Given the description of an element on the screen output the (x, y) to click on. 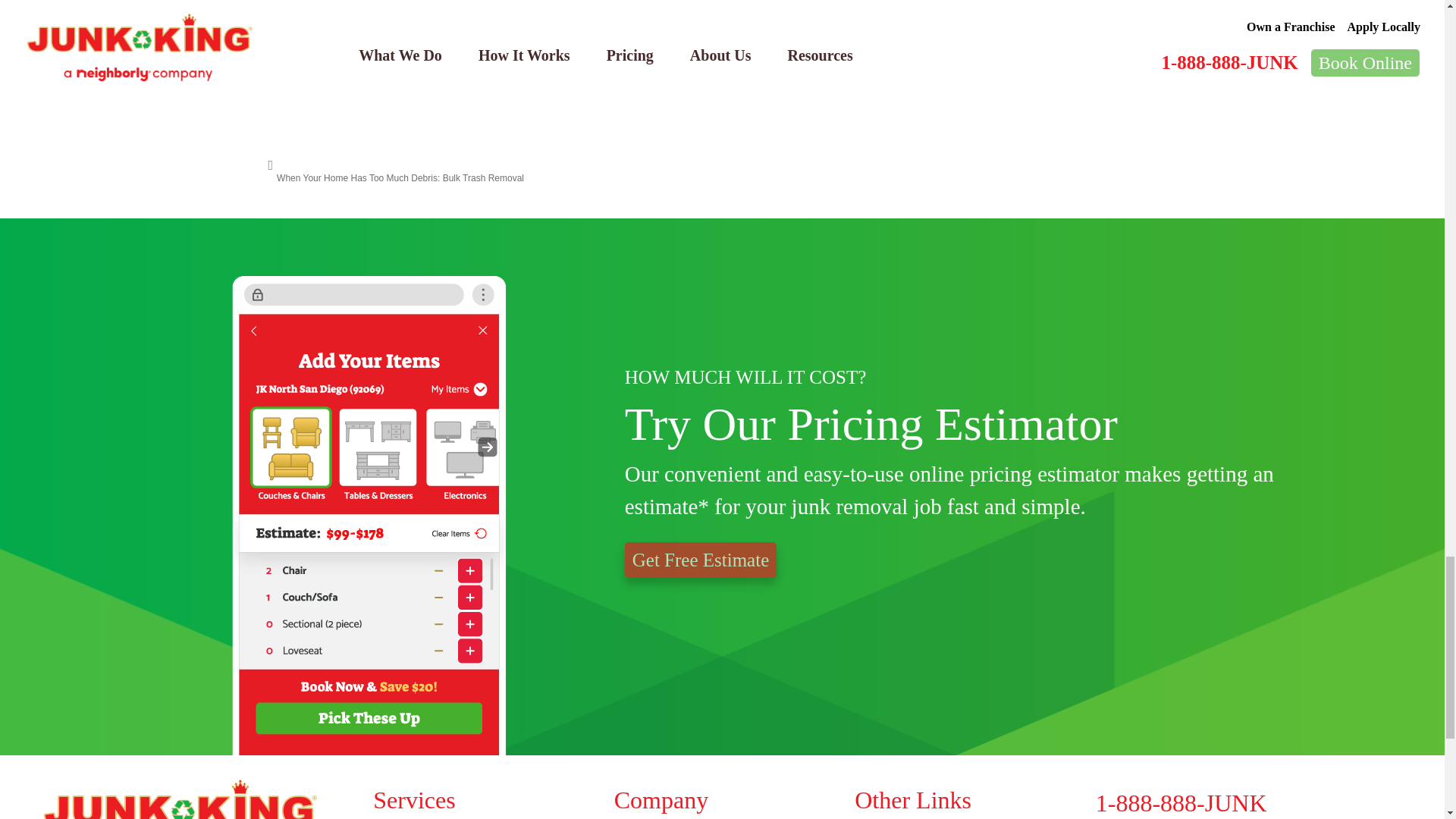
Footer (721, 799)
logo (180, 799)
